Given the description of an element on the screen output the (x, y) to click on. 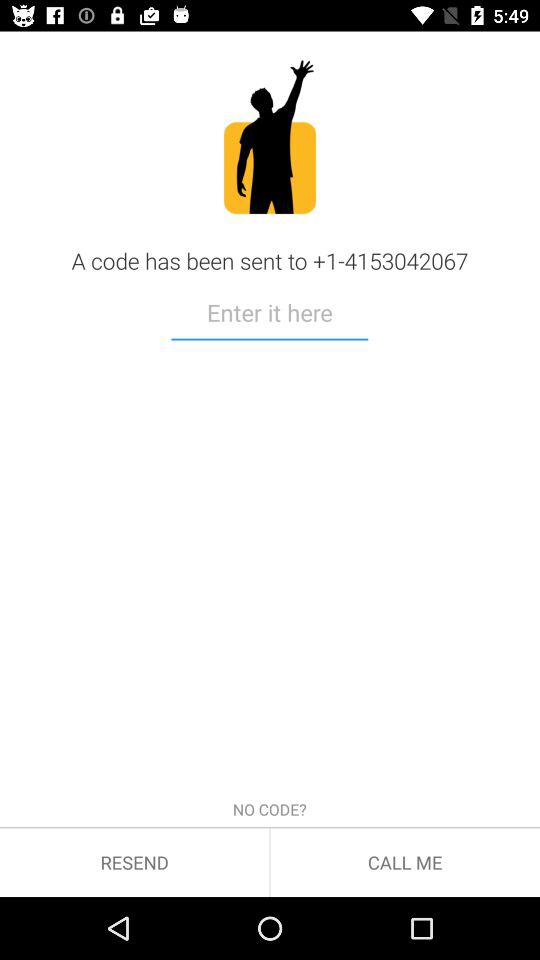
launch the icon at the bottom left corner (134, 862)
